Given the description of an element on the screen output the (x, y) to click on. 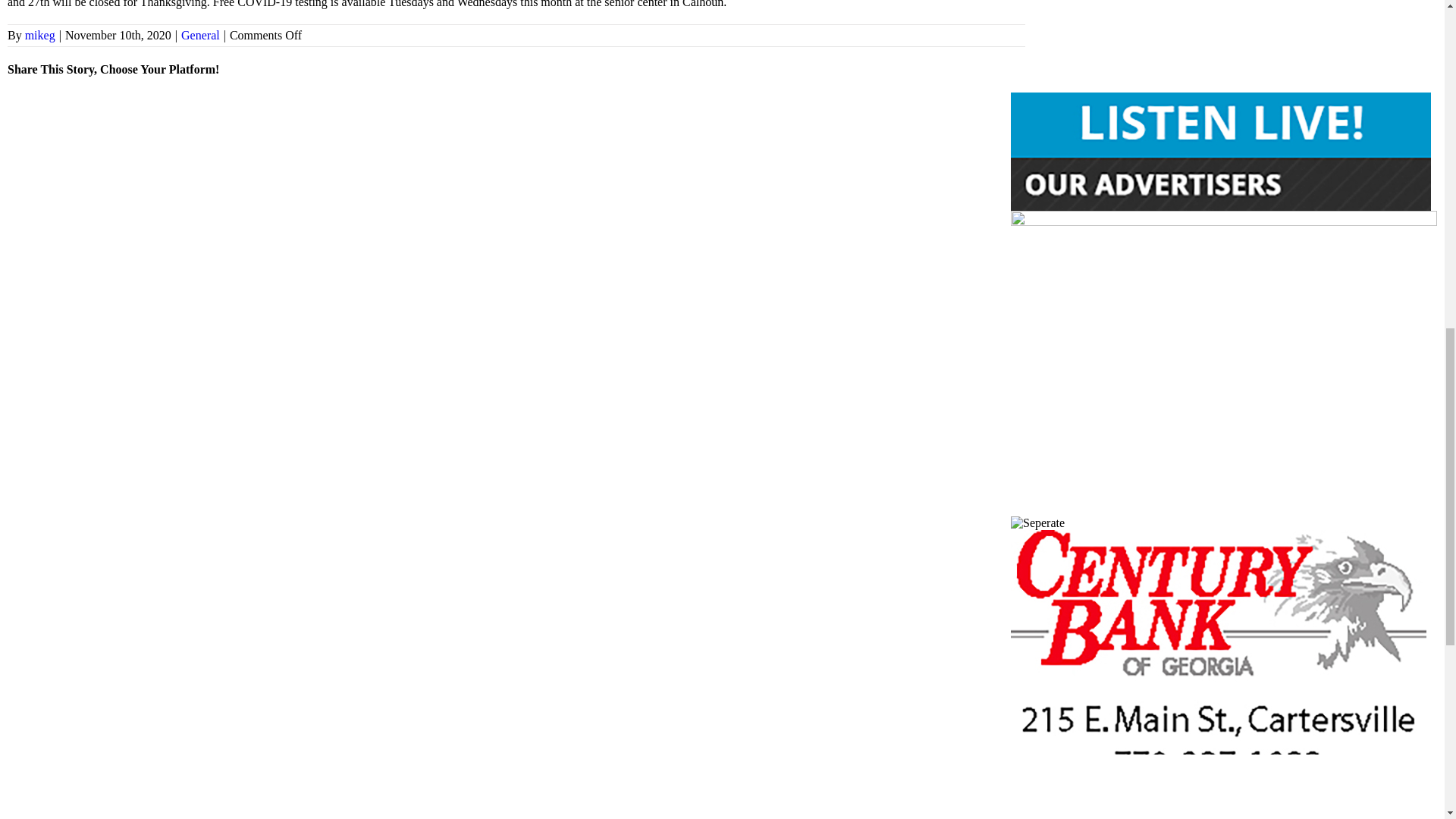
mikeg (39, 34)
Posts by mikeg (39, 34)
General (199, 34)
